Given the description of an element on the screen output the (x, y) to click on. 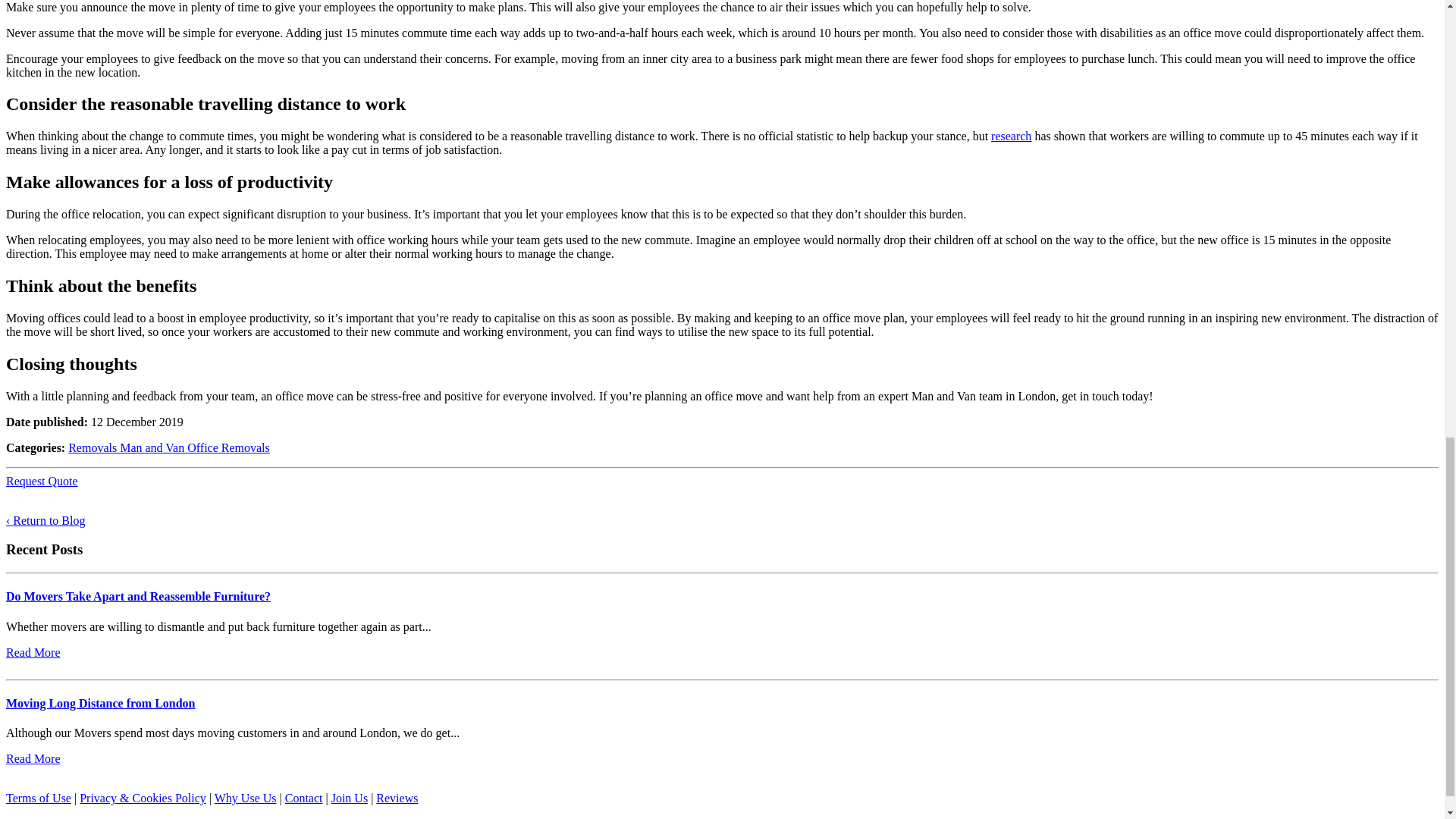
Office Removals (228, 447)
Why Use Us (245, 797)
Man and Van (153, 447)
Read More (33, 652)
Read More (33, 758)
Moving Long Distance from London (100, 703)
Contact (304, 797)
Request Quote (41, 481)
Terms of Use (38, 797)
Do Movers Take Apart and Reassemble Furniture? (137, 595)
